Given the description of an element on the screen output the (x, y) to click on. 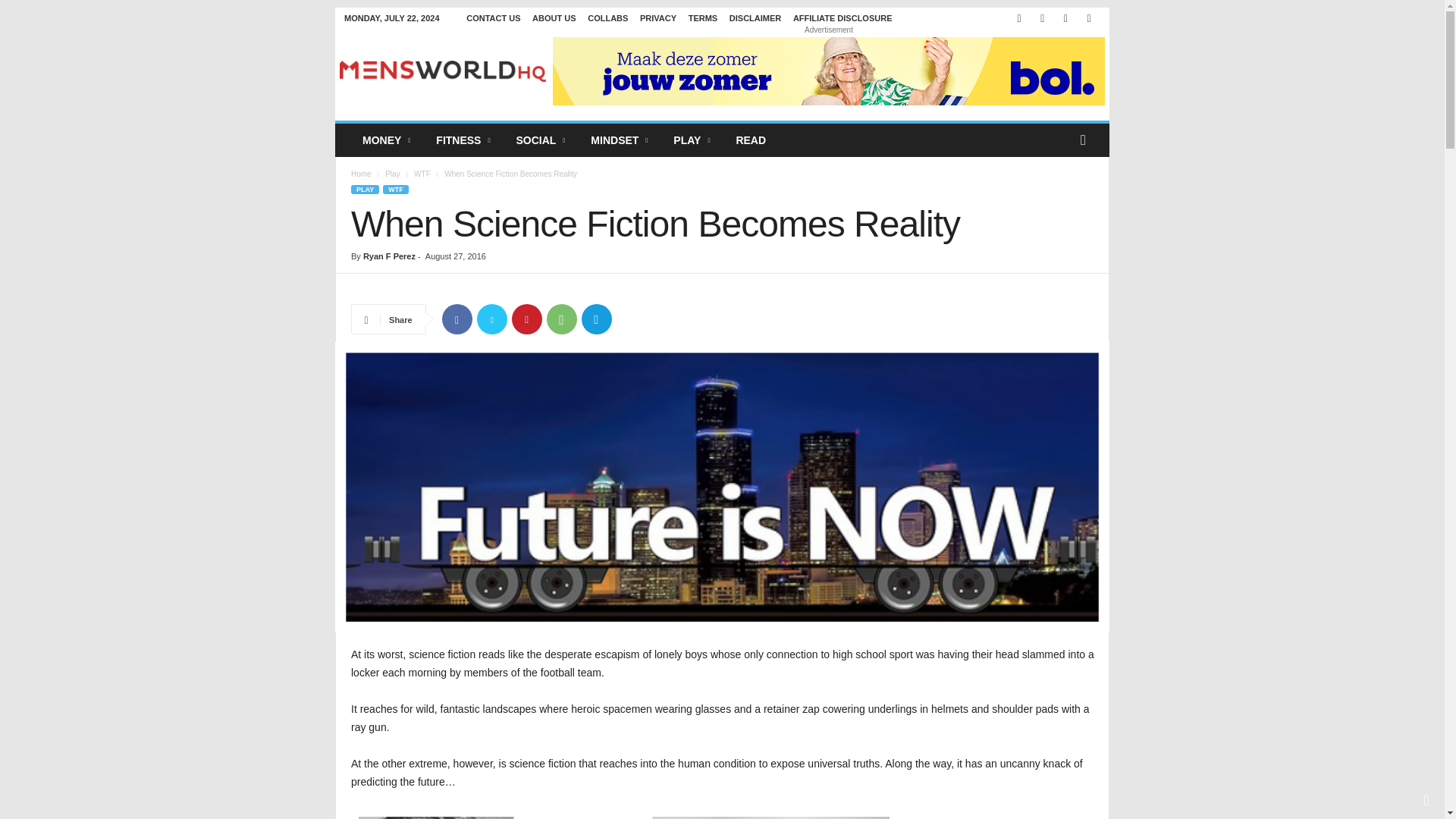
MensWorldHQ (442, 70)
AFFILIATE DISCLOSURE (842, 17)
Telegram (1065, 18)
ABOUT US (553, 17)
MONEY (387, 140)
Instagram (1042, 18)
PRIVACY (658, 17)
COLLABS (607, 17)
Twitter (1088, 18)
DISCLAIMER (754, 17)
Facebook (1018, 18)
